Given the description of an element on the screen output the (x, y) to click on. 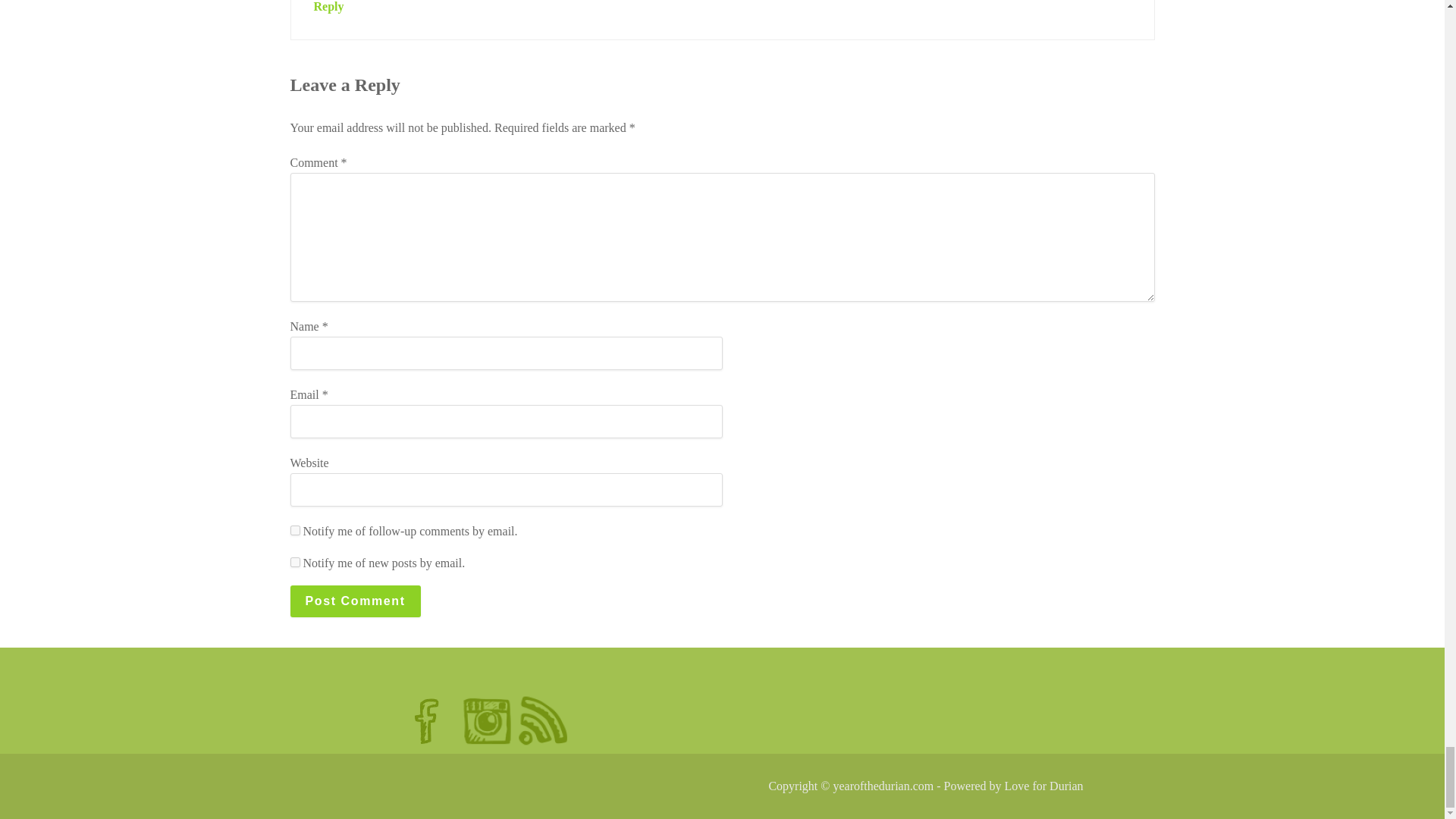
subscribe (294, 530)
subscribe (294, 562)
Post Comment (354, 601)
